Given the description of an element on the screen output the (x, y) to click on. 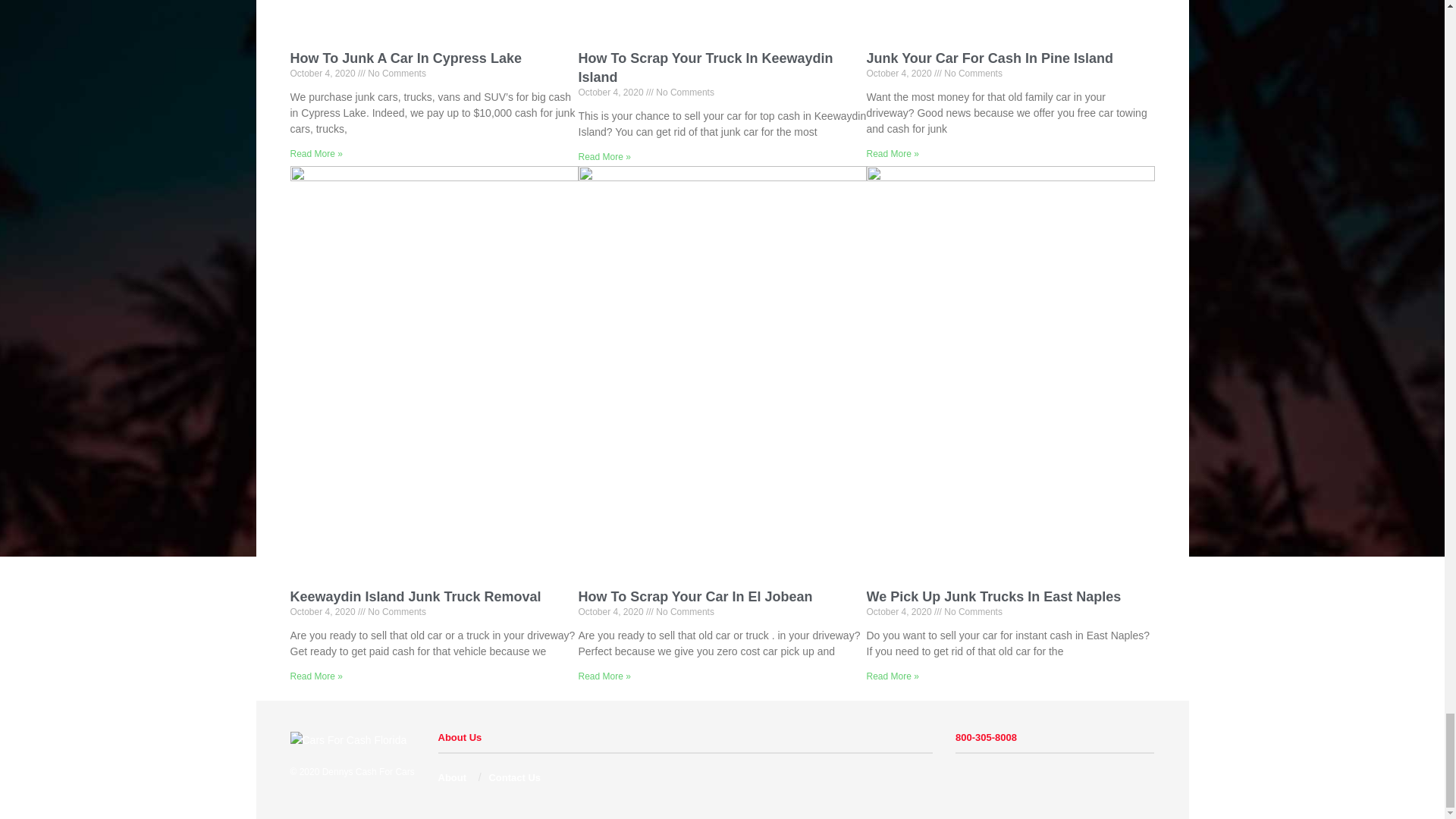
How To Junk A Car In Cypress Lake (405, 58)
